Given the description of an element on the screen output the (x, y) to click on. 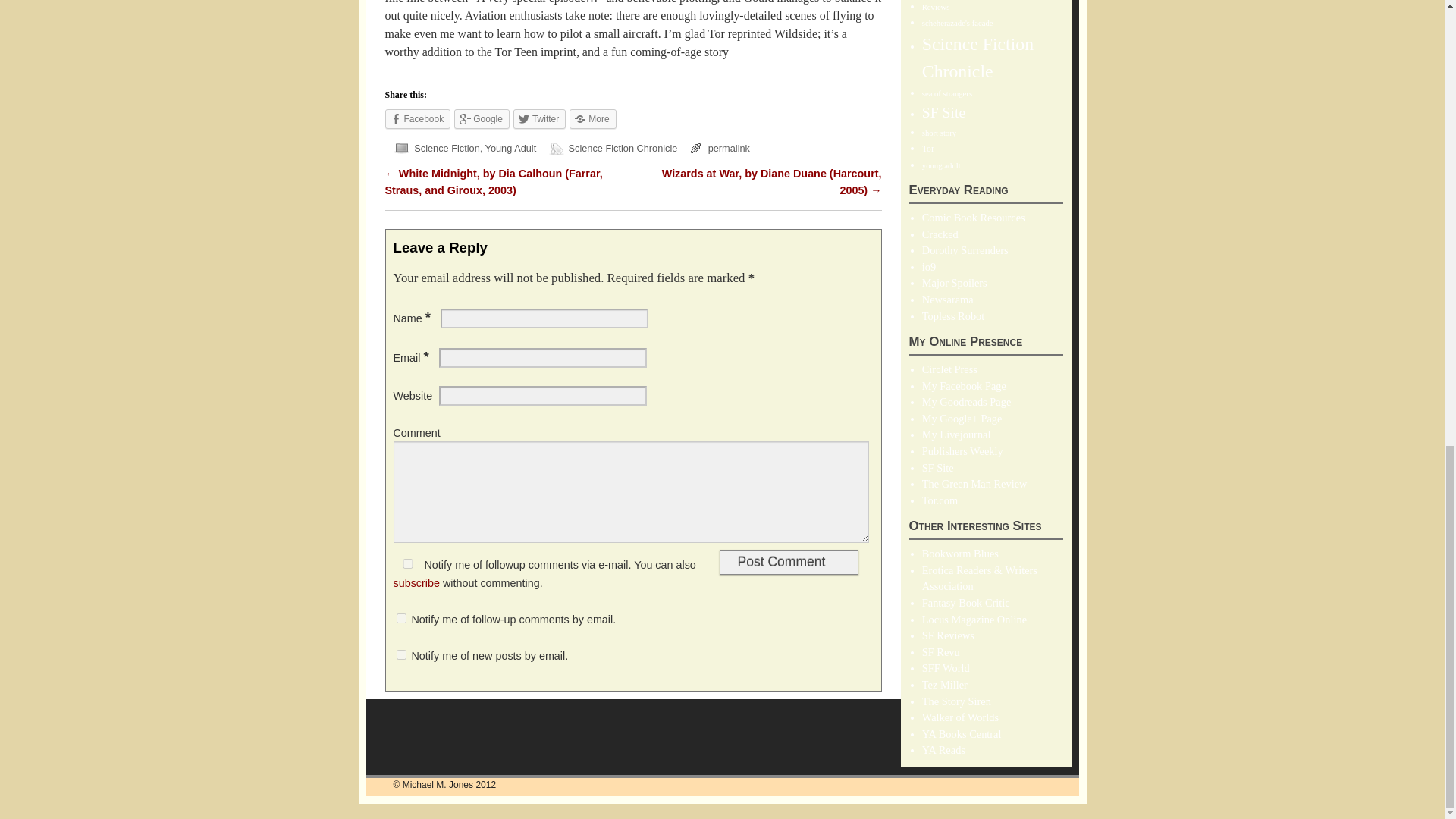
Twitter (539, 118)
Facebook (418, 118)
Post Comment (788, 561)
Young Adult (510, 147)
permalink (728, 147)
Science Fiction Chronicle (623, 147)
Share on Facebook (418, 118)
Science Fiction (446, 147)
Click to share on Twitter (539, 118)
Google (481, 118)
